Given the description of an element on the screen output the (x, y) to click on. 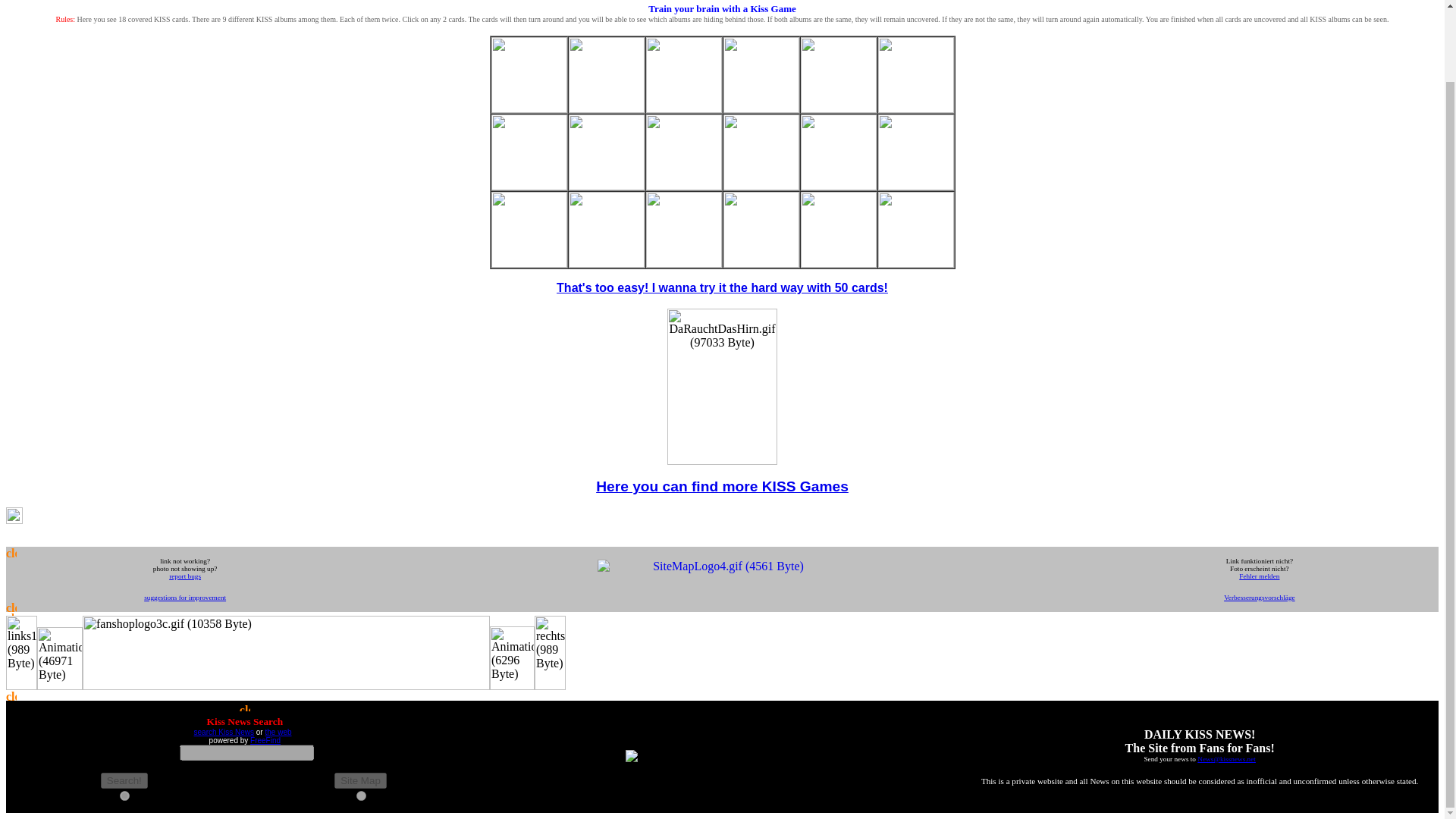
Site Map (360, 780)
FreeFind (265, 740)
suggestions for improvement (184, 594)
w (361, 795)
That's too easy! I wanna try it the hard way with 50 cards! (722, 287)
Fehler melden (1259, 575)
s (124, 795)
Here you can find more KISS Games (721, 486)
Search! (124, 780)
Search! (124, 780)
report bugs (184, 574)
search Kiss News (223, 732)
the web (277, 732)
